Given the description of an element on the screen output the (x, y) to click on. 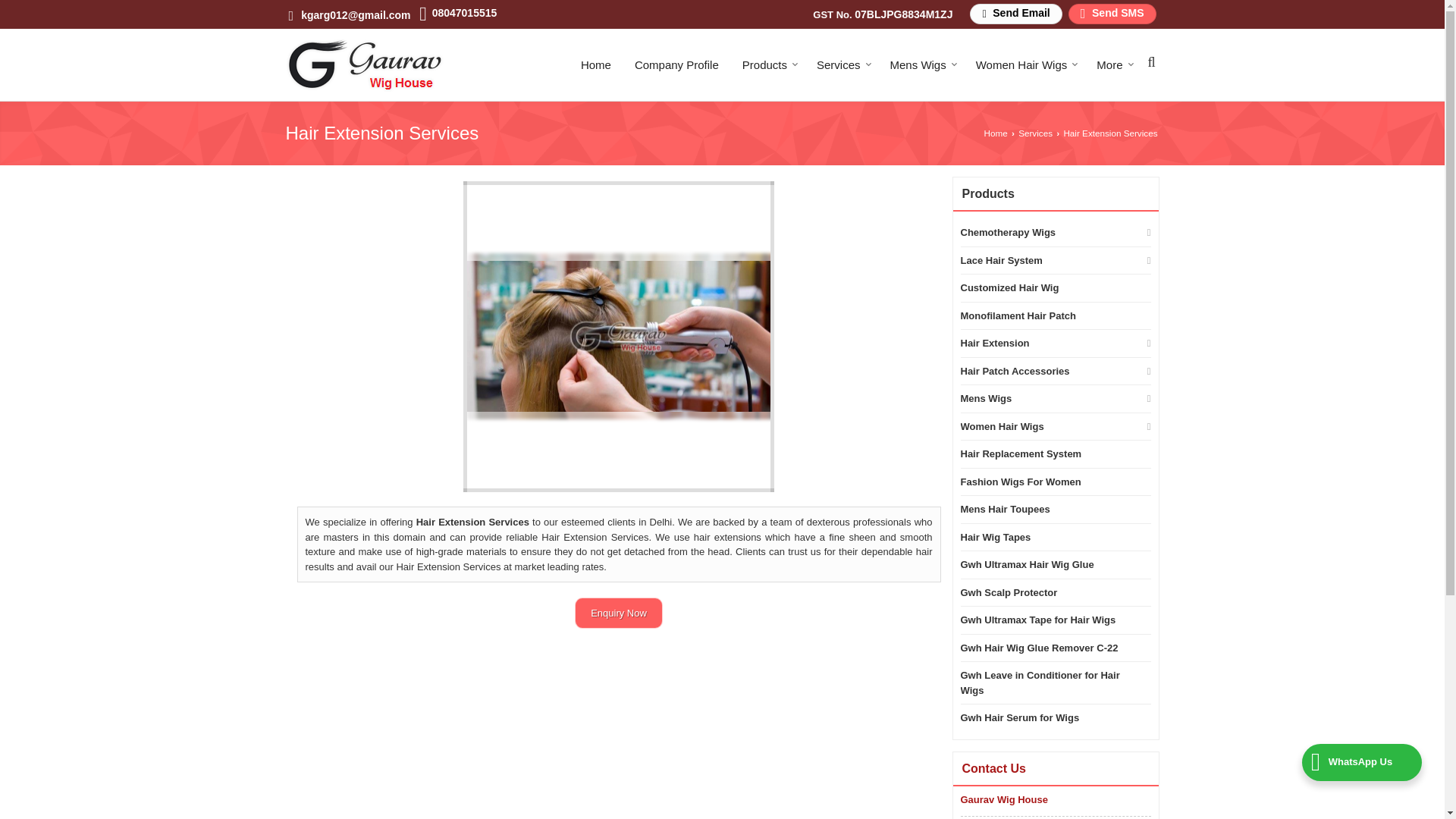
Company Profile (676, 64)
Products (767, 64)
Send SMS (1112, 14)
Company Profile (676, 64)
Home (596, 64)
Gaurav Wig House (364, 64)
Send Email (1015, 14)
Home (596, 64)
Products (767, 64)
